Given the description of an element on the screen output the (x, y) to click on. 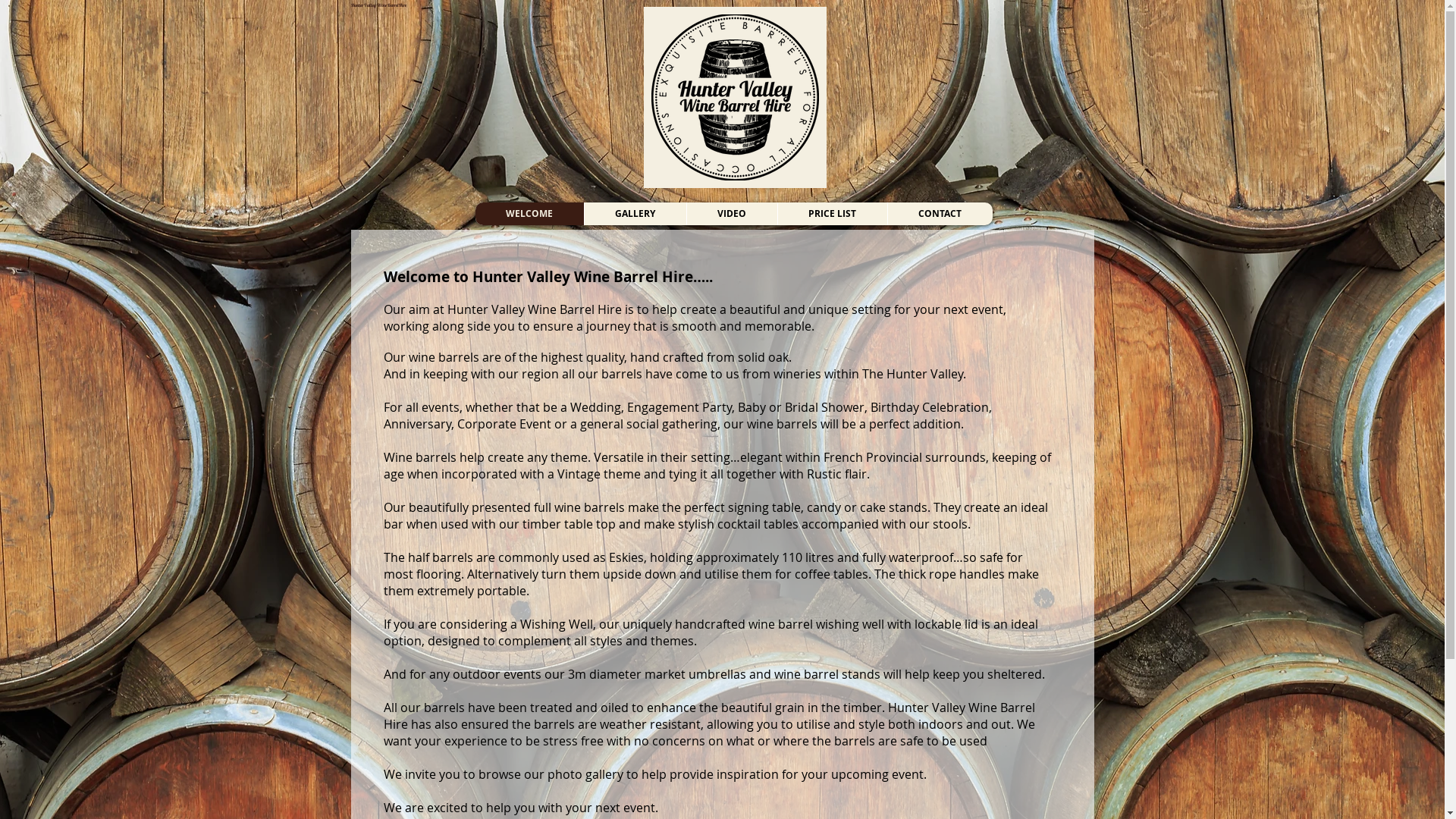
CONTACT Element type: text (939, 213)
PRICE LIST Element type: text (831, 213)
WELCOME Element type: text (528, 213)
HunterValleyWineBarrelHireBNW.png Element type: hover (734, 97)
VIDEO Element type: text (730, 213)
GALLERY Element type: text (634, 213)
